Given the description of an element on the screen output the (x, y) to click on. 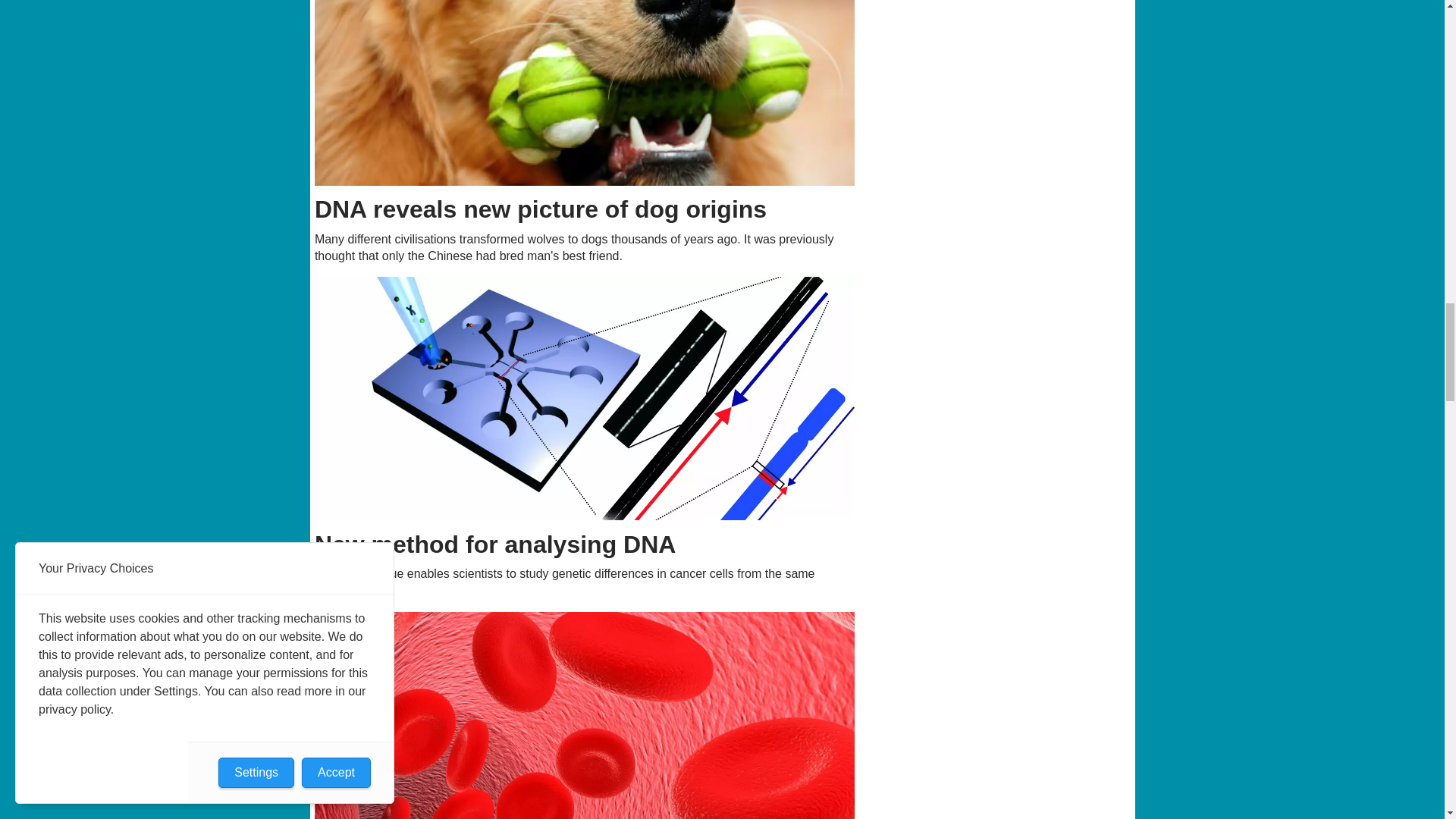
DNA reveals new picture of dog origins (585, 92)
New method for analysing DNA (585, 398)
Protein that controls DNA packing identified (585, 715)
